Given the description of an element on the screen output the (x, y) to click on. 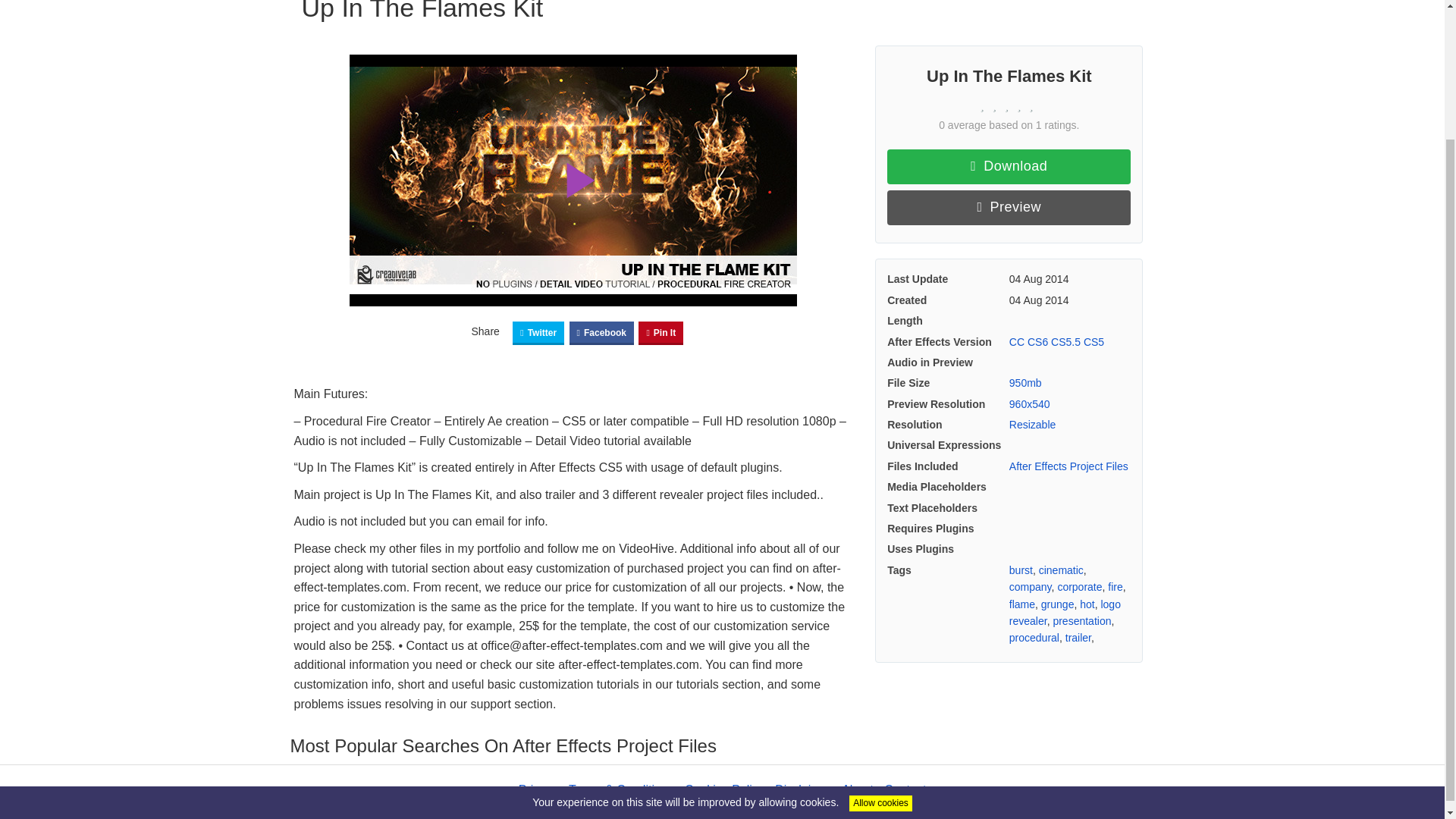
Play Video (573, 180)
